Given the description of an element on the screen output the (x, y) to click on. 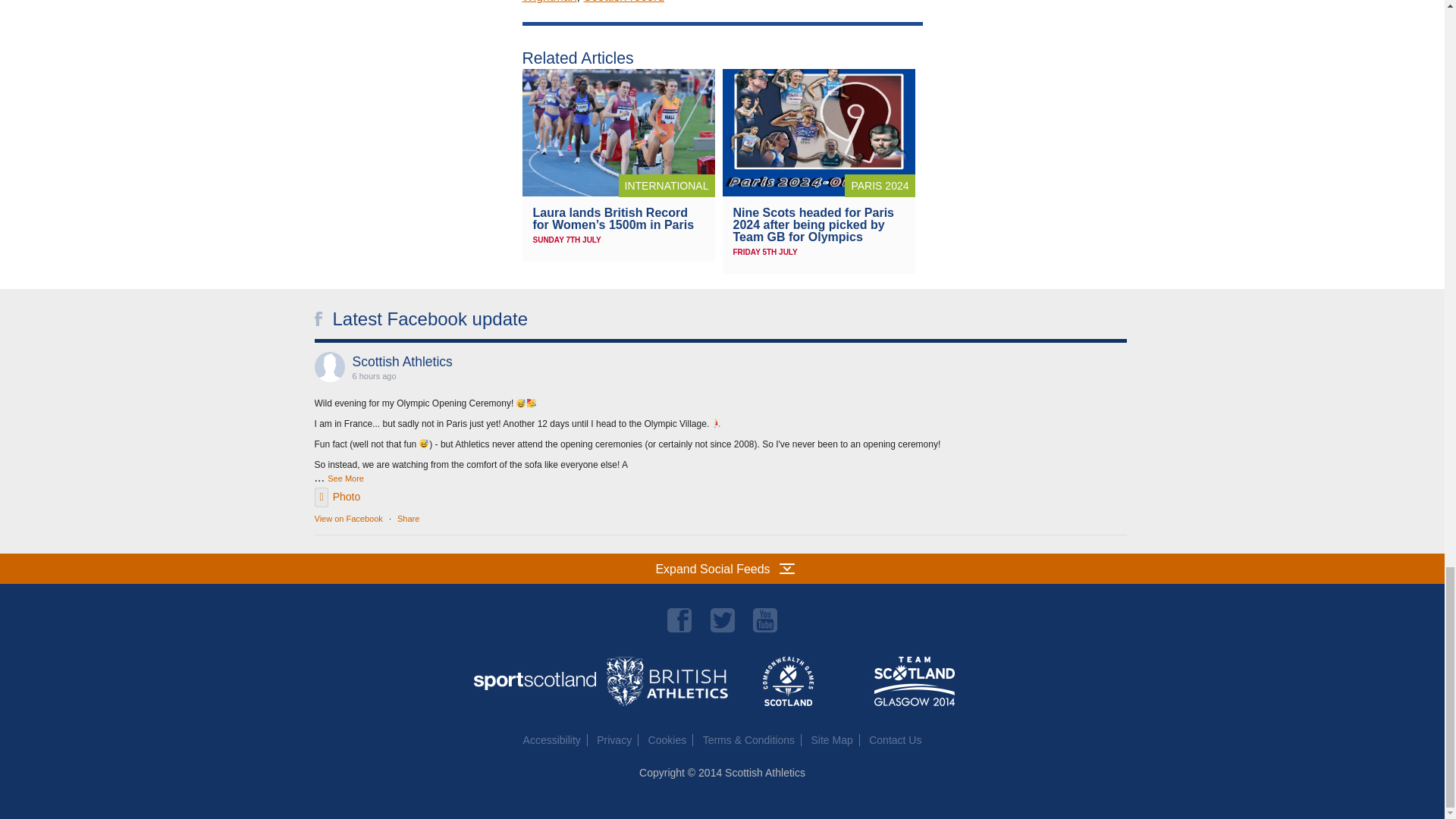
Scottish record (623, 1)
View on Facebook (347, 518)
Share (408, 518)
